Given the description of an element on the screen output the (x, y) to click on. 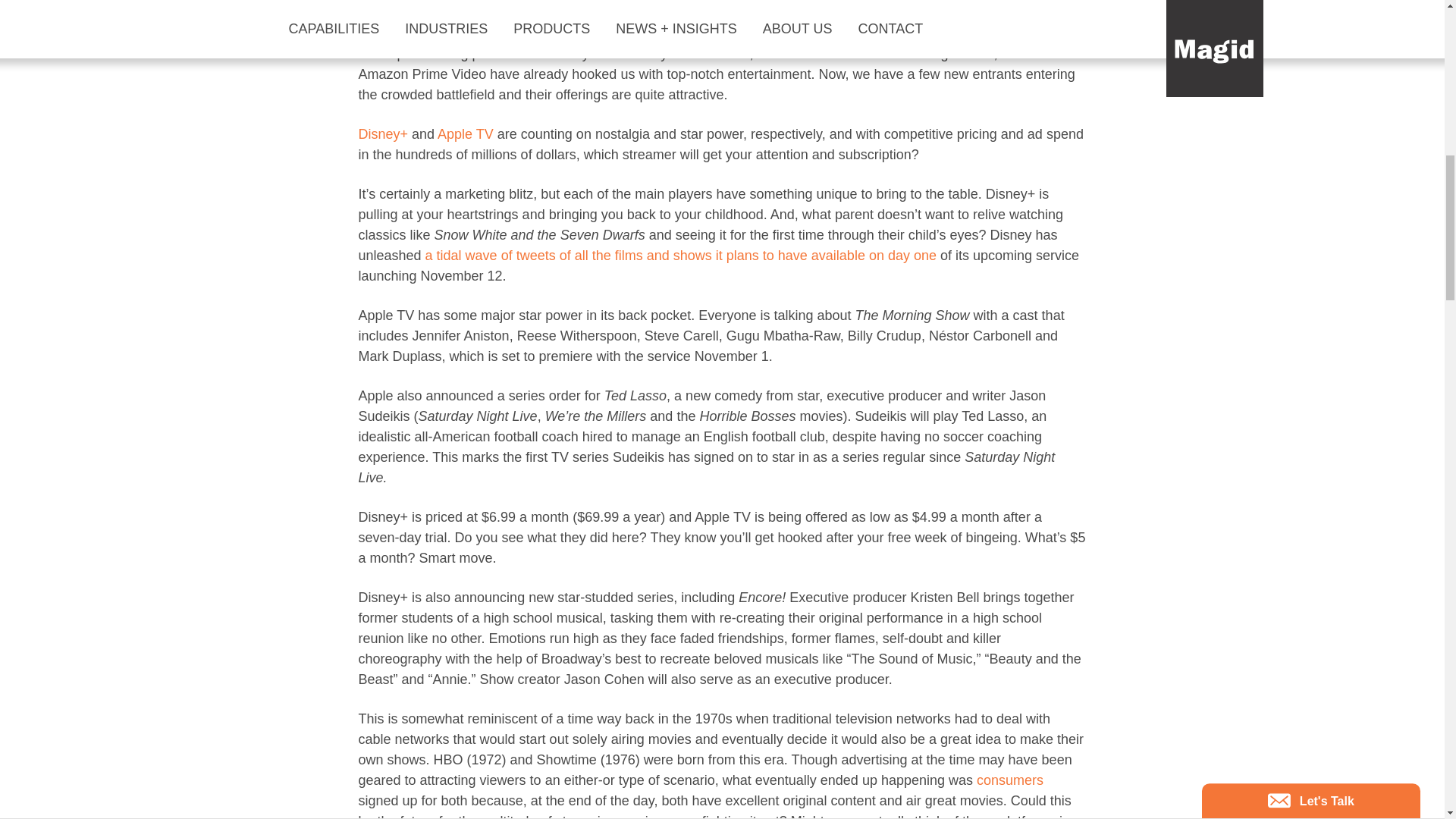
Send Now (1268, 577)
consumers (1009, 780)
Netflix (975, 53)
